Given the description of an element on the screen output the (x, y) to click on. 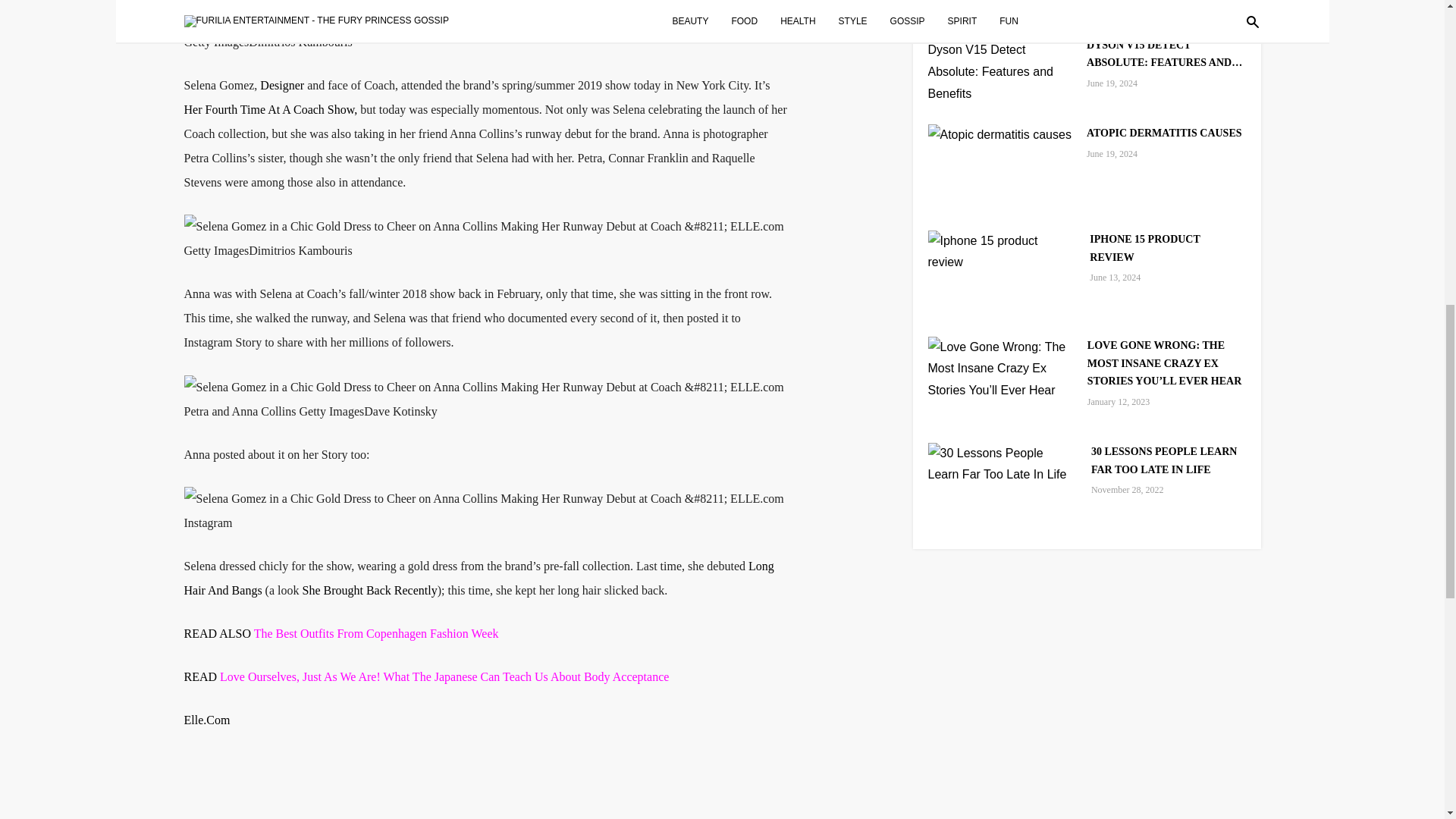
She Brought Back Recently (368, 590)
READ ALSO  (218, 633)
Designer (282, 84)
30 Lessons People Learn Far Too Late In Life (1001, 463)
Iphone 15 product review (1001, 250)
Atopic dermatitis causes (999, 133)
ATOPIC DERMATITIS CAUSES (1163, 133)
image (483, 498)
